Given the description of an element on the screen output the (x, y) to click on. 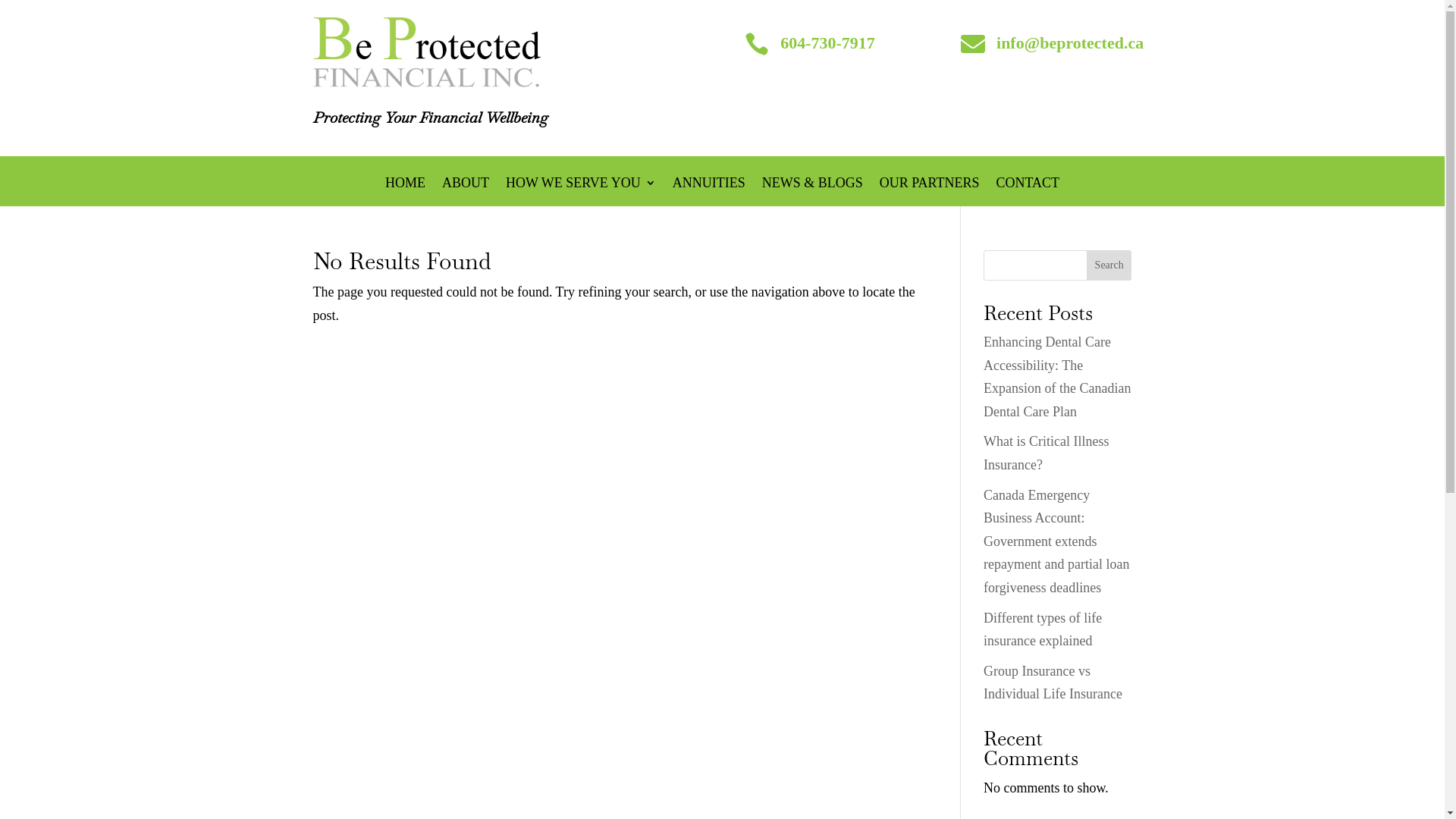
Different types of life insurance explained Element type: text (1042, 629)
604-730-7917 Element type: text (827, 42)
HOW WE SERVE YOU Element type: text (580, 185)
info@beprotected.ca Element type: text (1069, 42)
beProtectedLogo Element type: hover (425, 52)
What is Critical Illness Insurance? Element type: text (1045, 452)
OUR PARTNERS Element type: text (929, 185)
CONTACT Element type: text (1027, 185)
Group Insurance vs Individual Life Insurance Element type: text (1052, 682)
ABOUT Element type: text (465, 185)
ANNUITIES Element type: text (708, 185)
NEWS & BLOGS Element type: text (812, 185)
HOME Element type: text (405, 185)
Search Element type: text (1109, 265)
